Given the description of an element on the screen output the (x, y) to click on. 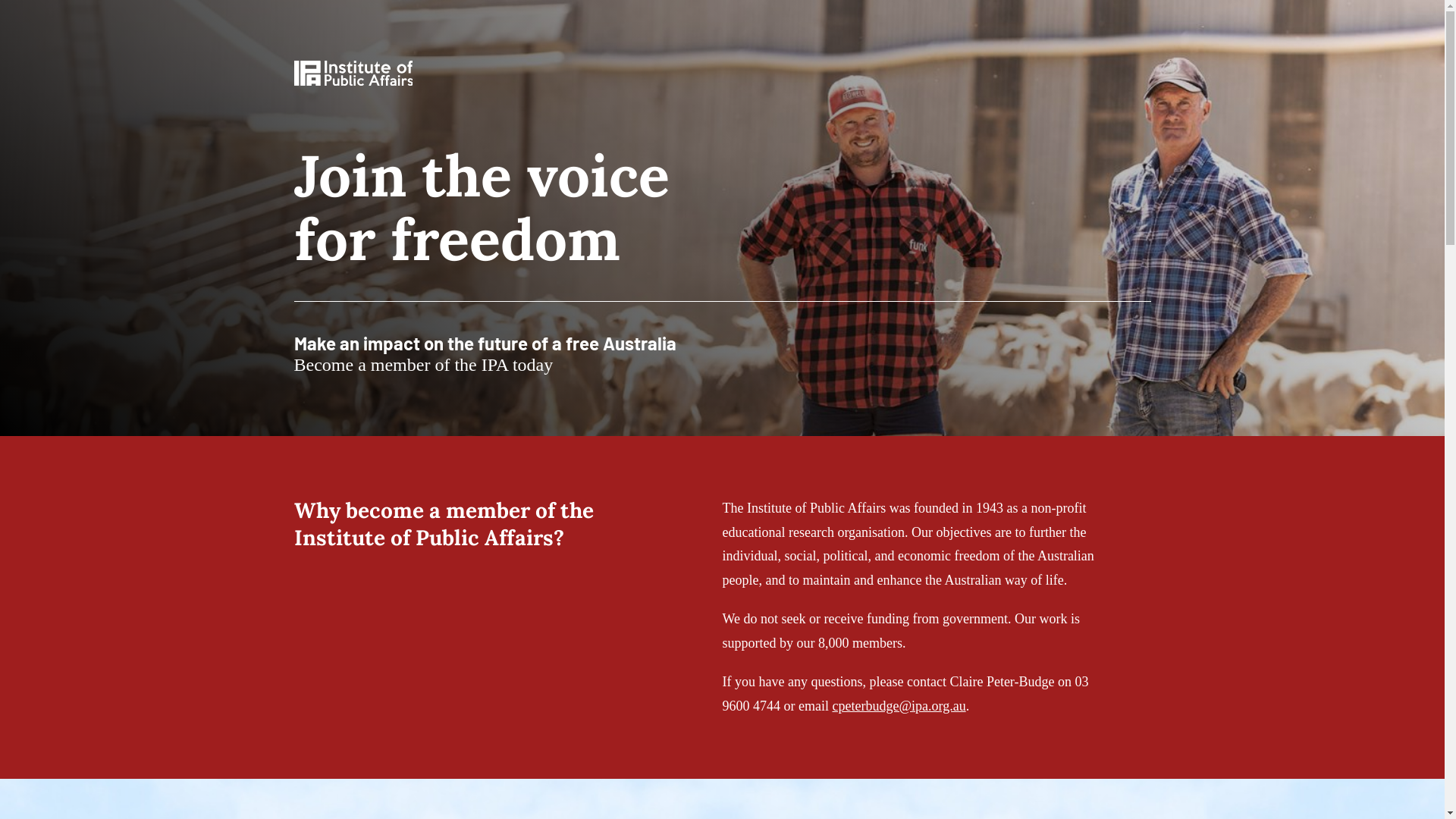
Join Element type: text (76, 12)
cpeterbudge@ipa.org.au Element type: text (898, 705)
